Given the description of an element on the screen output the (x, y) to click on. 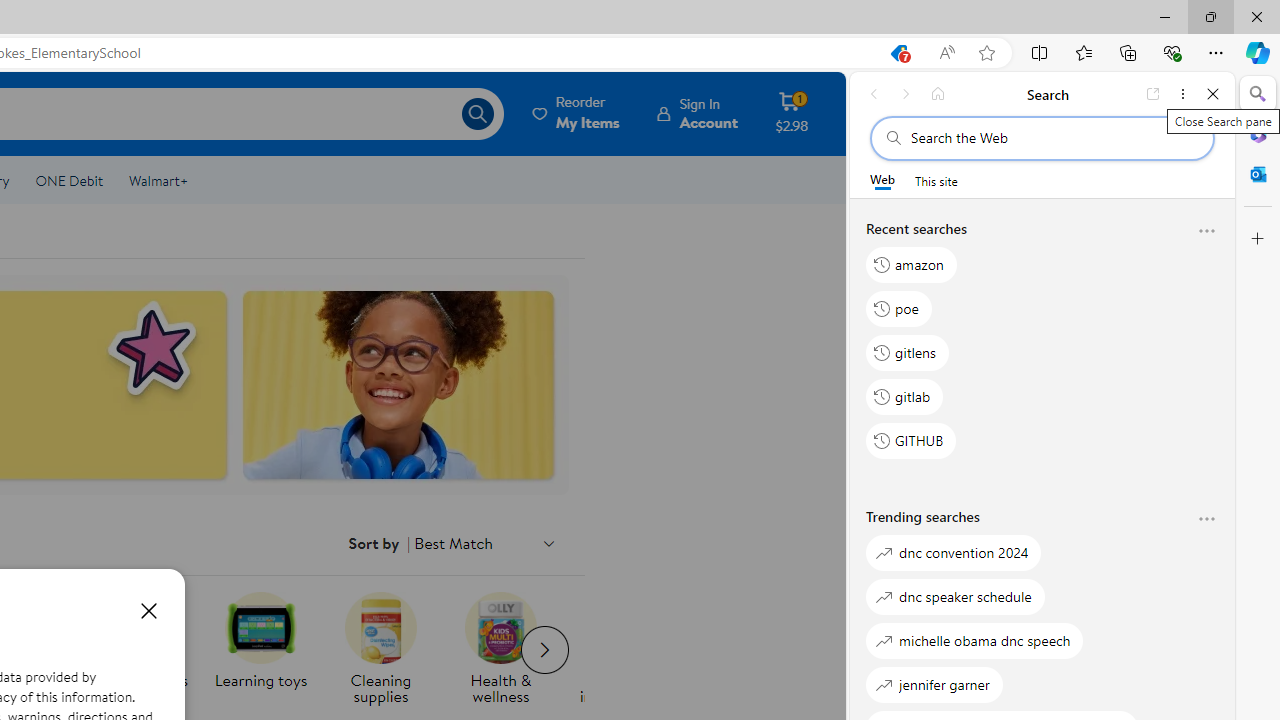
amazon (911, 264)
dnc convention 2024 (953, 552)
GITHUB (911, 441)
jennifer garner (934, 684)
poe (898, 308)
This site has coupons! Shopping in Microsoft Edge, 7 (898, 53)
